Given the description of an element on the screen output the (x, y) to click on. 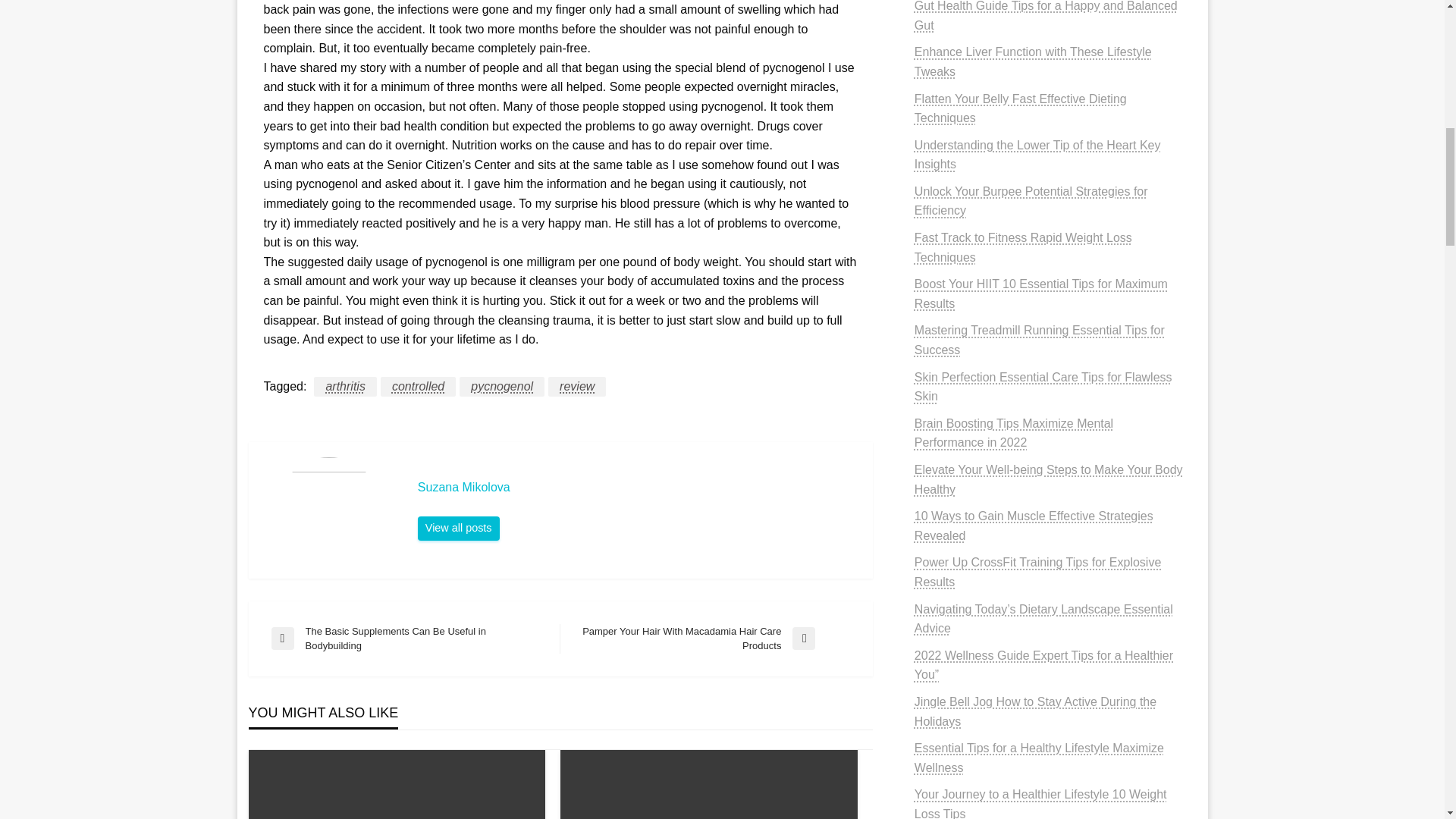
View all posts (458, 528)
Suzana Mikolova (458, 528)
review (576, 386)
pycnogenol (502, 386)
controlled (417, 386)
Suzana Mikolova (637, 487)
arthritis (344, 386)
Suzana Mikolova (637, 487)
